Given the description of an element on the screen output the (x, y) to click on. 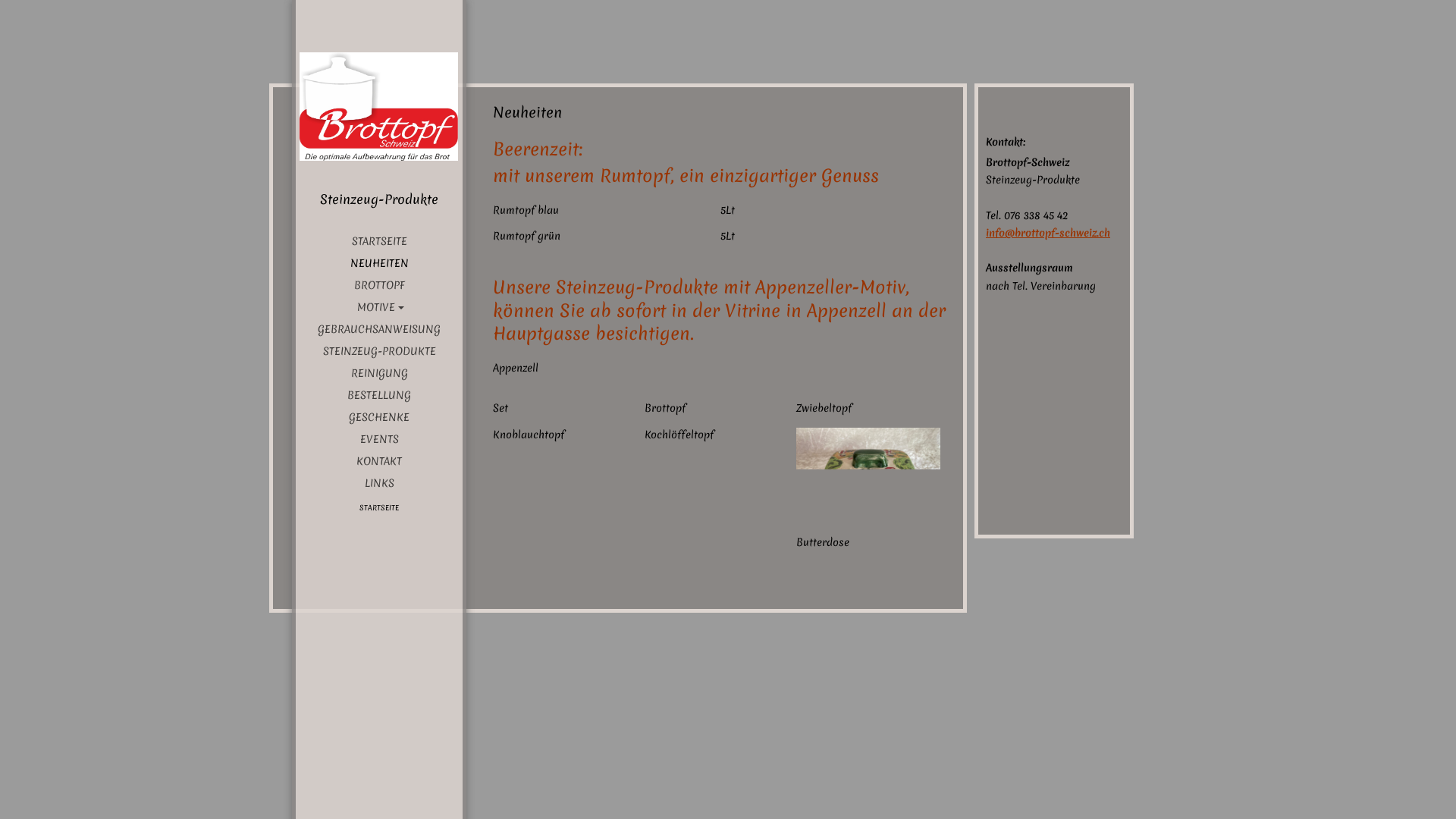
REINIGUNG Element type: text (378, 372)
KONTAKT Element type: text (378, 460)
LINKS Element type: text (378, 482)
BESTELLUNG Element type: text (378, 394)
NEUHEITEN Element type: text (378, 262)
STARTSEITE Element type: text (378, 240)
STARTSEITE Element type: text (378, 507)
GESCHENKE Element type: text (378, 416)
info@brottopf-schweiz.ch Element type: text (1047, 232)
MOTIVE Element type: text (378, 306)
EVENTS Element type: text (378, 438)
GEBRAUCHSANWEISUNG Element type: text (378, 328)
STEINZEUG-PRODUKTE Element type: text (378, 350)
BROTTOPF Element type: text (378, 284)
